Given the description of an element on the screen output the (x, y) to click on. 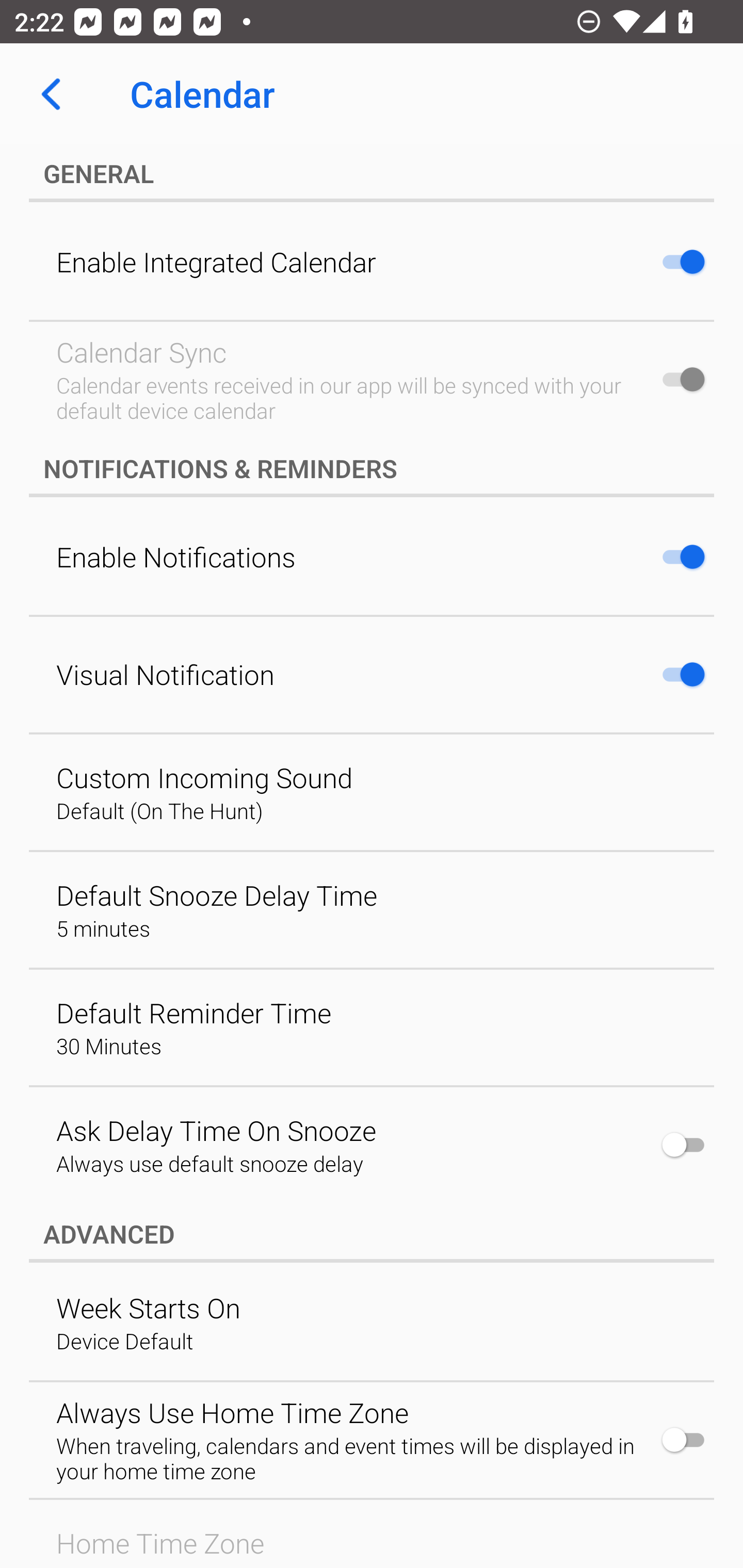
Navigate up (50, 93)
Enable Integrated Calendar (371, 261)
Enable Notifications (371, 556)
Visual Notification (371, 674)
Custom Incoming Sound Default (On The Hunt) (371, 791)
Default Snooze Delay Time 5 minutes (371, 909)
Default Reminder Time 30 Minutes (371, 1027)
Week Starts On Device Default (371, 1322)
Home Time Zone Greenwich Mean Time  GMT+0 (371, 1534)
